Given the description of an element on the screen output the (x, y) to click on. 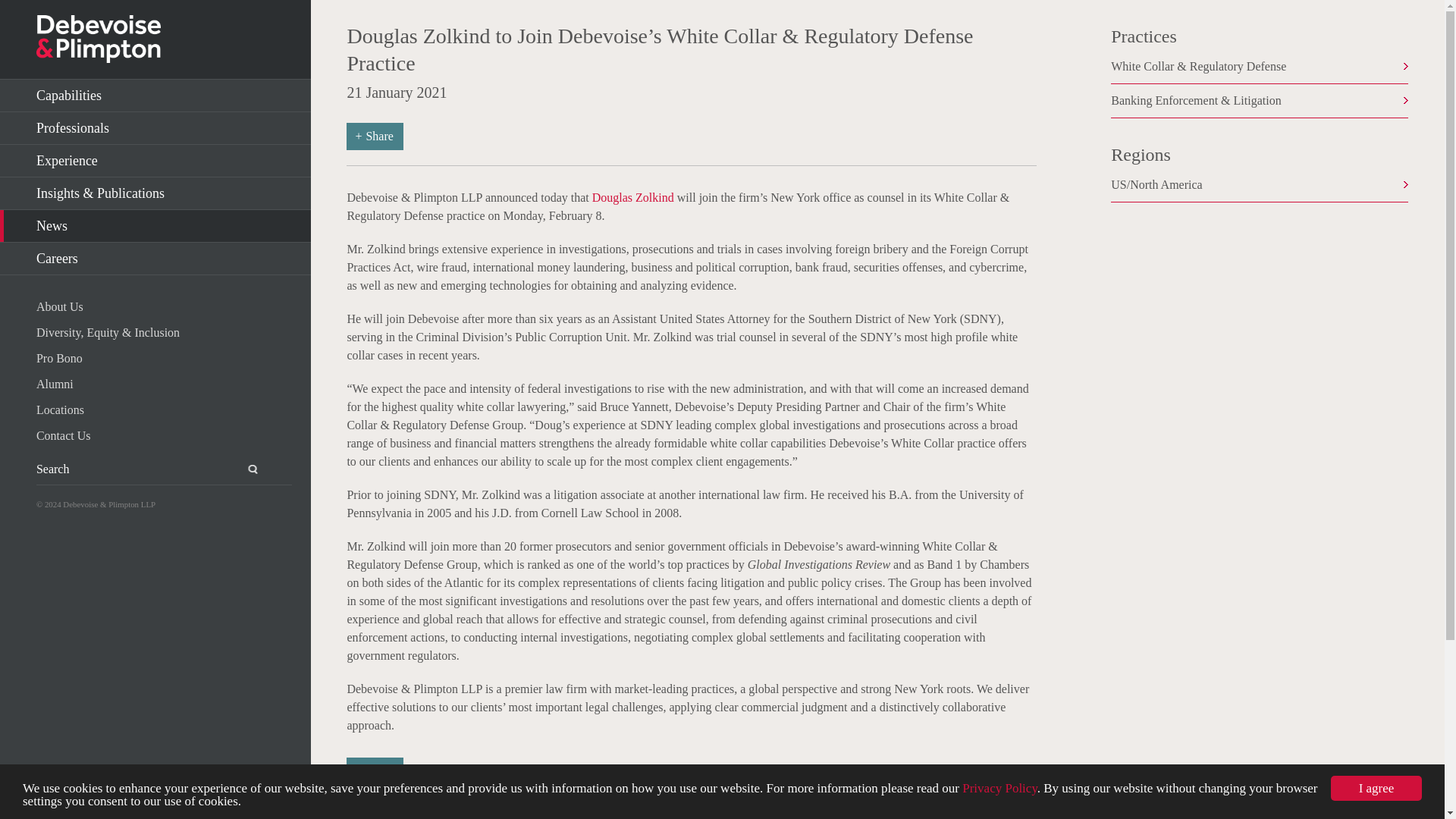
Douglas Zolkind (633, 196)
Share (374, 770)
Pro Bono (164, 358)
News (155, 225)
Search (243, 469)
About Us (164, 307)
Share (374, 135)
Alumni (164, 384)
Experience (155, 160)
Careers (155, 258)
Locations (164, 410)
Capabilities (155, 95)
Contact Us (164, 435)
Professionals (155, 128)
